Given the description of an element on the screen output the (x, y) to click on. 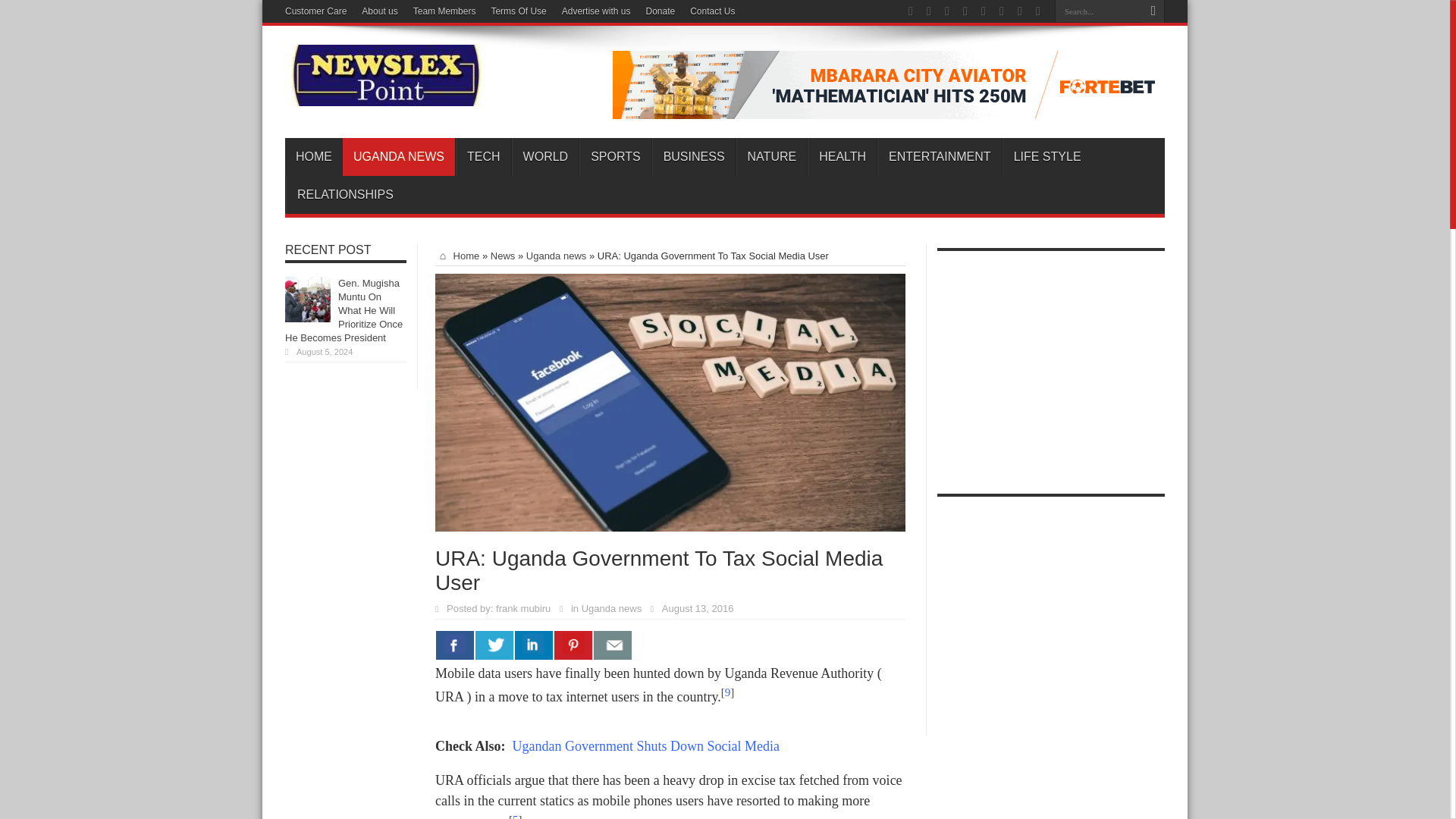
Newslex Point (385, 94)
TECH (483, 157)
About us (379, 11)
Advertise with us (596, 11)
Team Members (444, 11)
Search... (1097, 11)
Contact Us (712, 11)
UGANDA NEWS (398, 157)
HOME (313, 157)
Donate (660, 11)
Terms Of Use (518, 11)
Search (1152, 11)
Customer Care (315, 11)
